Given the description of an element on the screen output the (x, y) to click on. 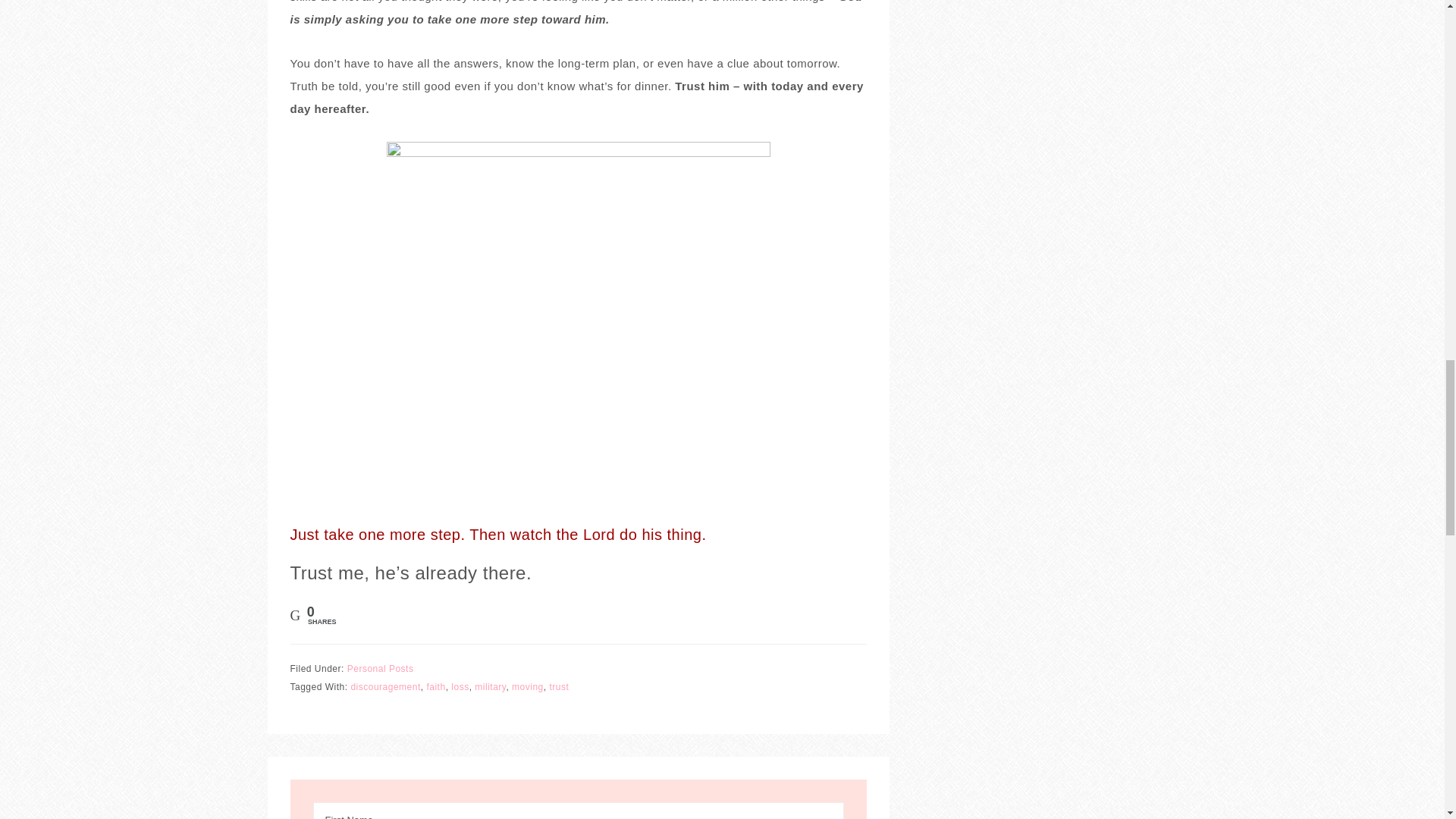
trust (558, 686)
loss (459, 686)
faith (435, 686)
moving (527, 686)
military (489, 686)
discouragement (385, 686)
Personal Posts (380, 668)
